Given the description of an element on the screen output the (x, y) to click on. 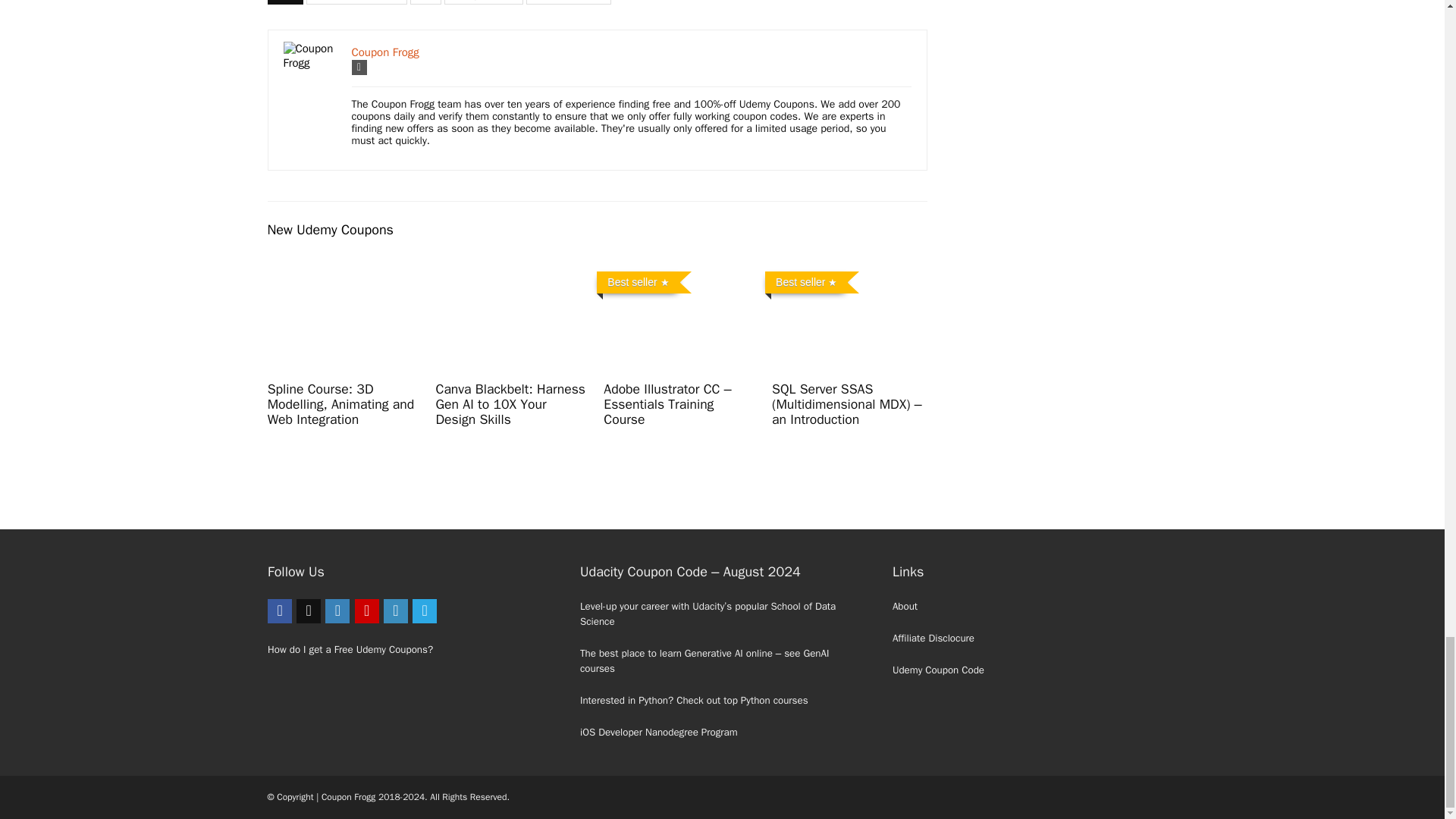
Linkedin (395, 610)
Instagramm (336, 610)
Facebook (279, 610)
twitter (308, 610)
Telegram (424, 610)
Youtube (366, 610)
